Given the description of an element on the screen output the (x, y) to click on. 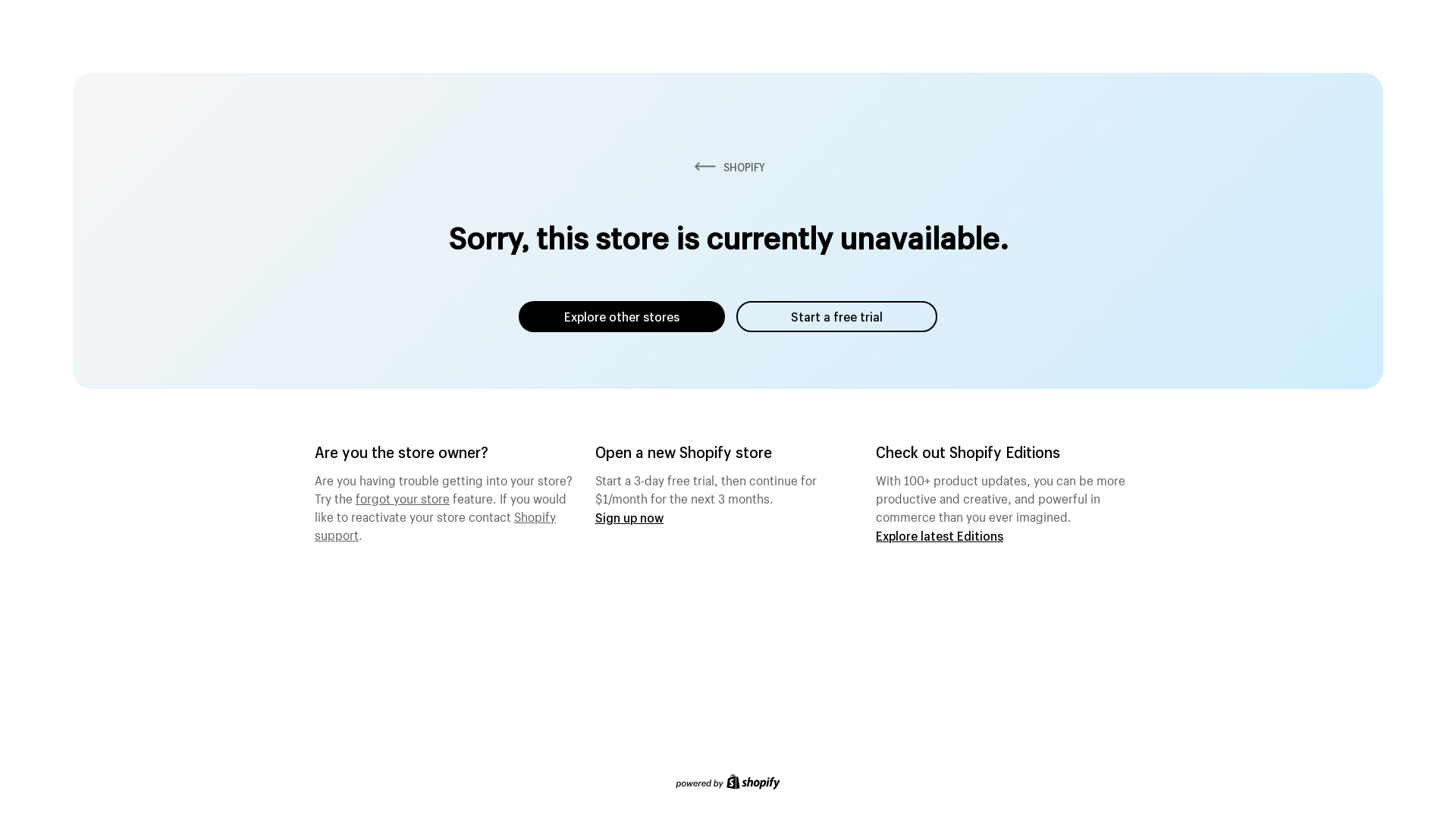
Explore latest Editions Element type: text (939, 535)
Explore other stores Element type: text (621, 316)
Start a free trial Element type: text (836, 316)
forgot your store Element type: text (402, 496)
SHOPIFY Element type: text (727, 167)
Sign up now Element type: text (629, 517)
Shopify support Element type: text (434, 523)
